Given the description of an element on the screen output the (x, y) to click on. 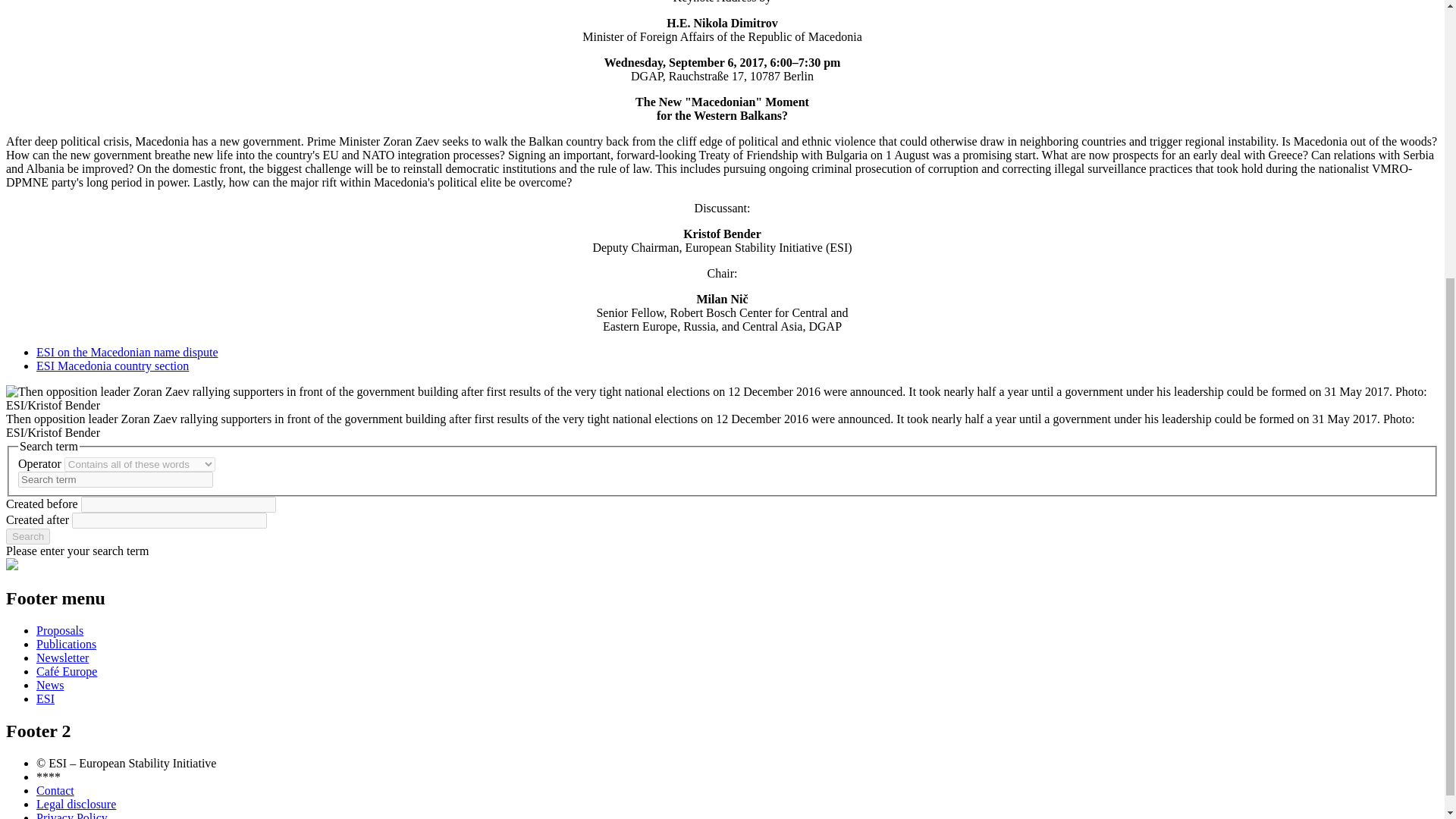
Search (27, 536)
Publications (66, 644)
Proposals (59, 630)
ESI (45, 698)
News (50, 684)
Newsletter (62, 657)
Search (27, 536)
ESI on the Macedonian name dispute (127, 351)
Contact (55, 789)
ESI Macedonia country section (112, 365)
